Given the description of an element on the screen output the (x, y) to click on. 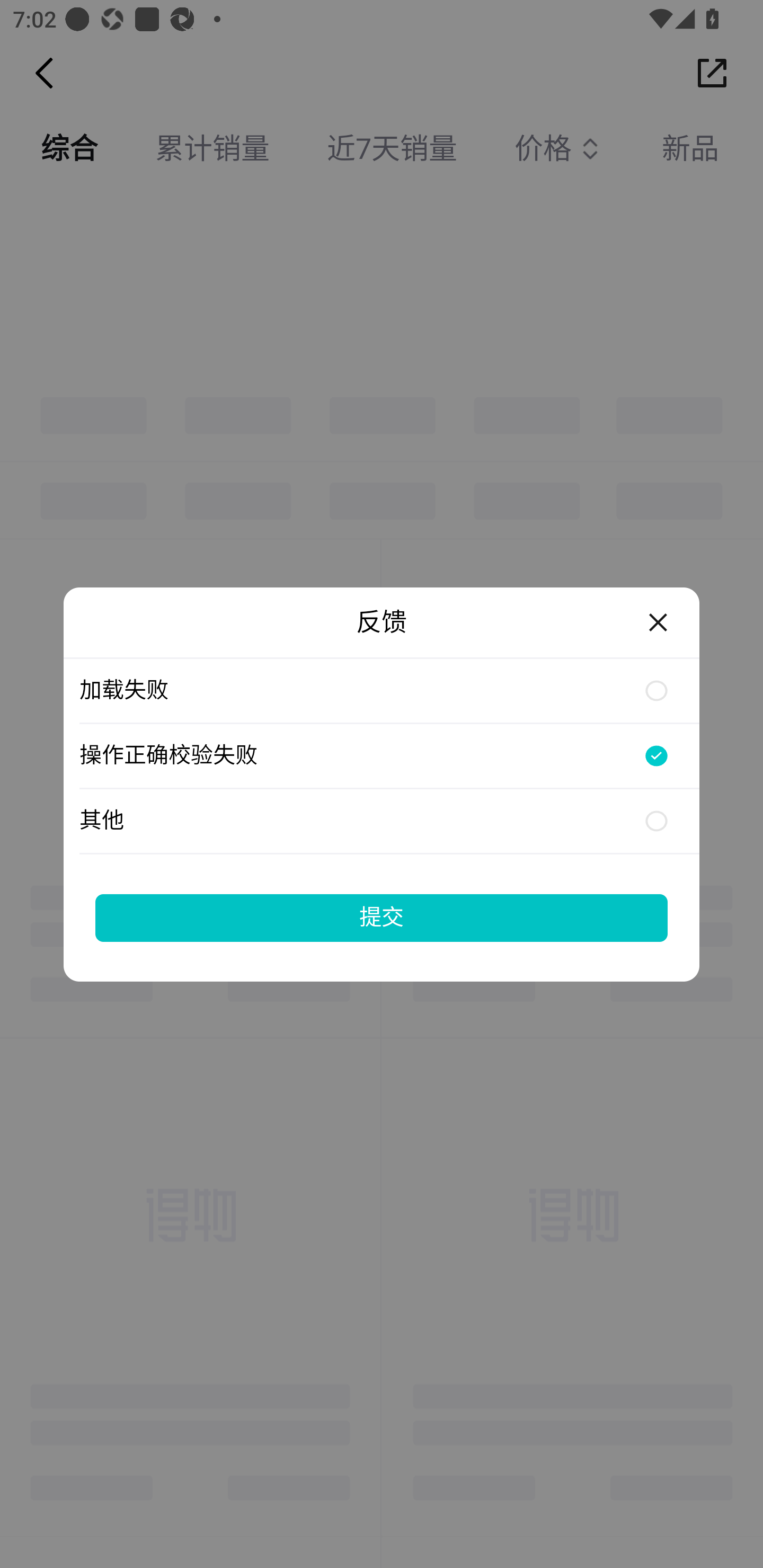
提交 (381, 917)
